Given the description of an element on the screen output the (x, y) to click on. 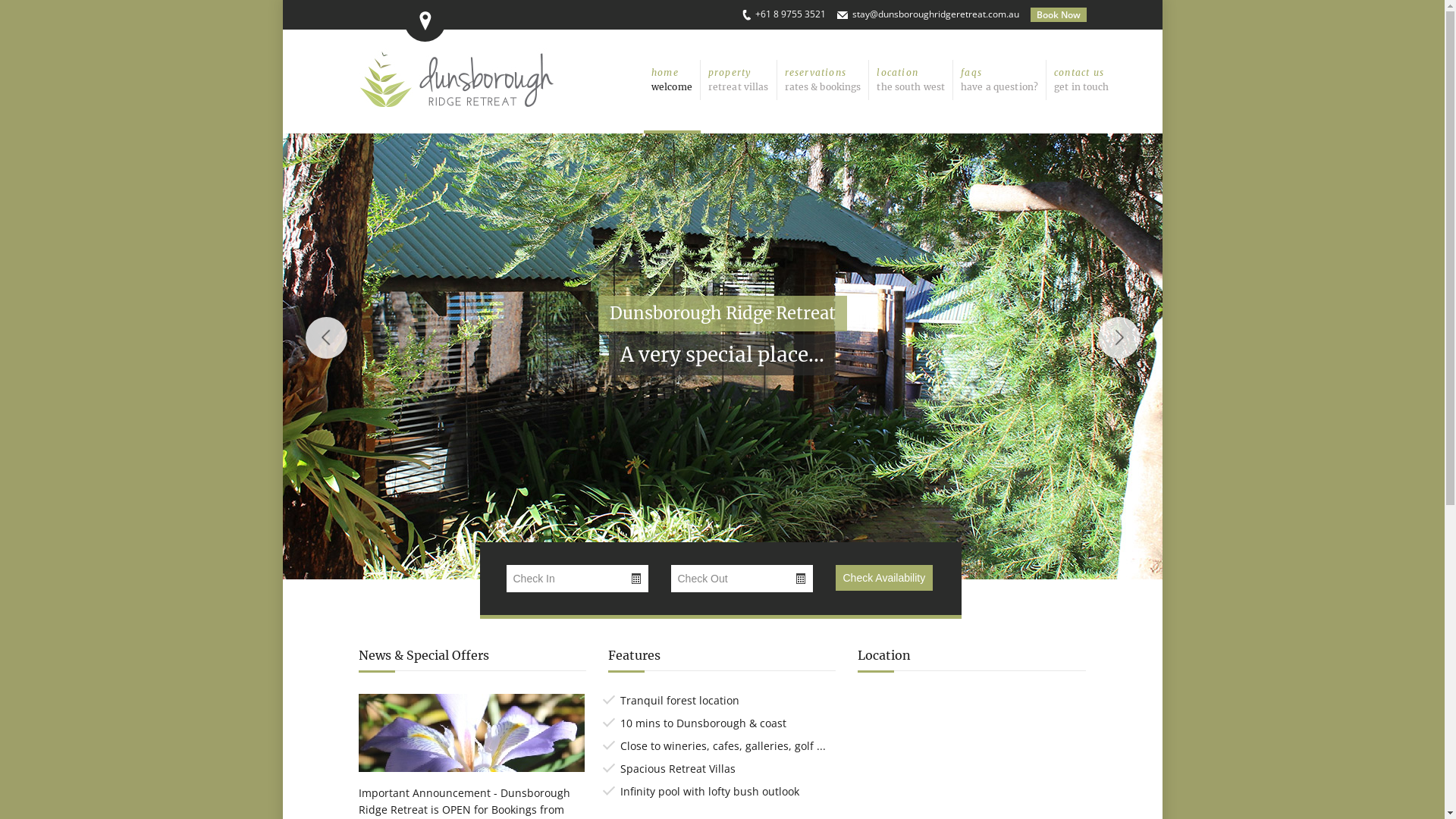
Book Now Element type: text (1057, 14)
contact us
get in touch Element type: text (1081, 79)
home
welcome Element type: text (671, 79)
location
the south west Element type: text (911, 79)
Check Availability Element type: text (884, 577)
stay@dunsboroughridgeretreat.com.au Element type: text (935, 13)
reservations
rates & bookings Element type: text (823, 79)
property
retreat villas Element type: text (738, 79)
faqs
have a question? Element type: text (999, 79)
